Given the description of an element on the screen output the (x, y) to click on. 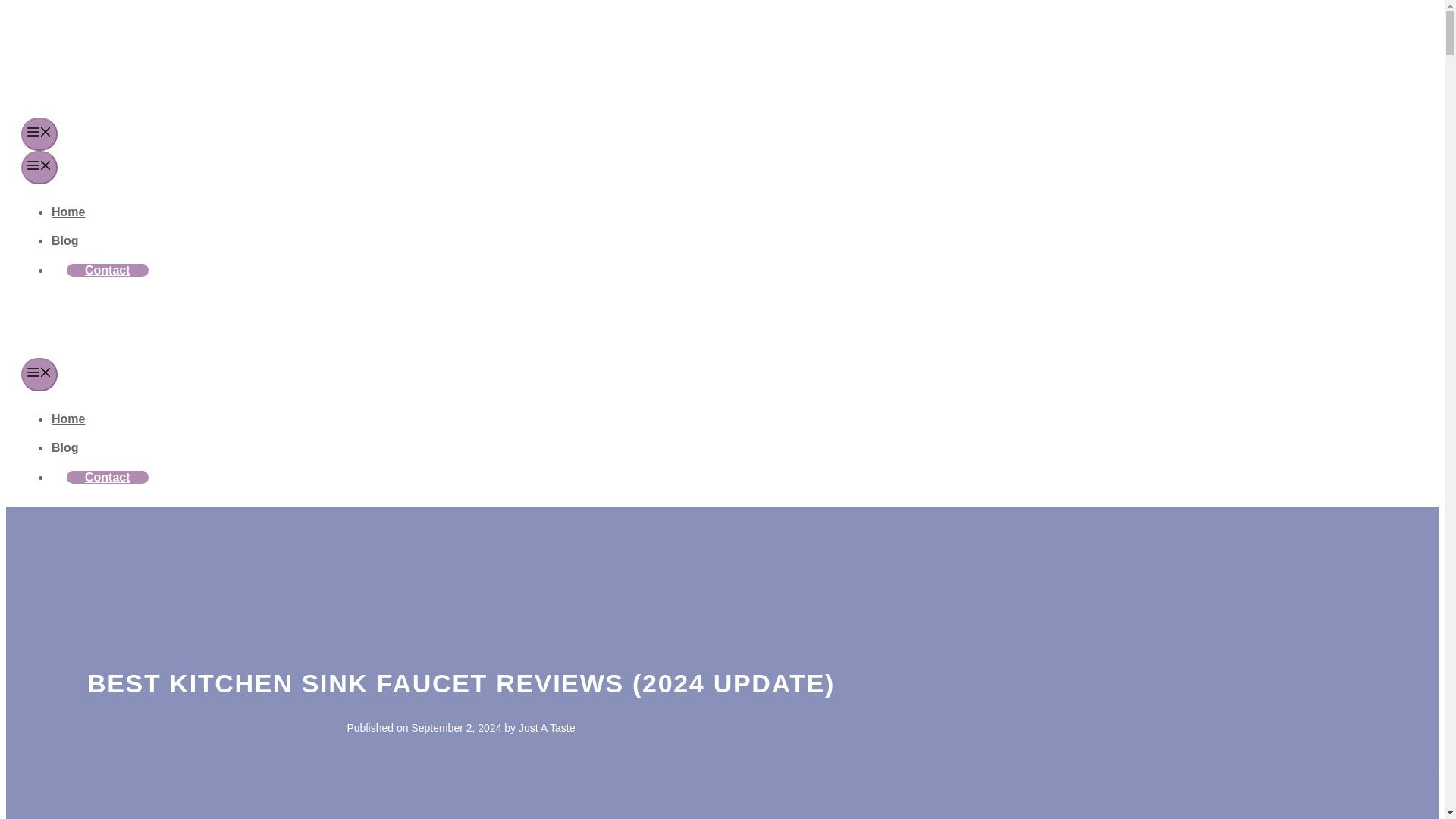
Blog (64, 447)
View all posts by Just A Taste (546, 727)
Home (67, 211)
Just A Taste (63, 345)
Menu (39, 133)
Just A Taste (89, 65)
Just A Taste (546, 727)
Menu (39, 374)
Contact (107, 477)
